Given the description of an element on the screen output the (x, y) to click on. 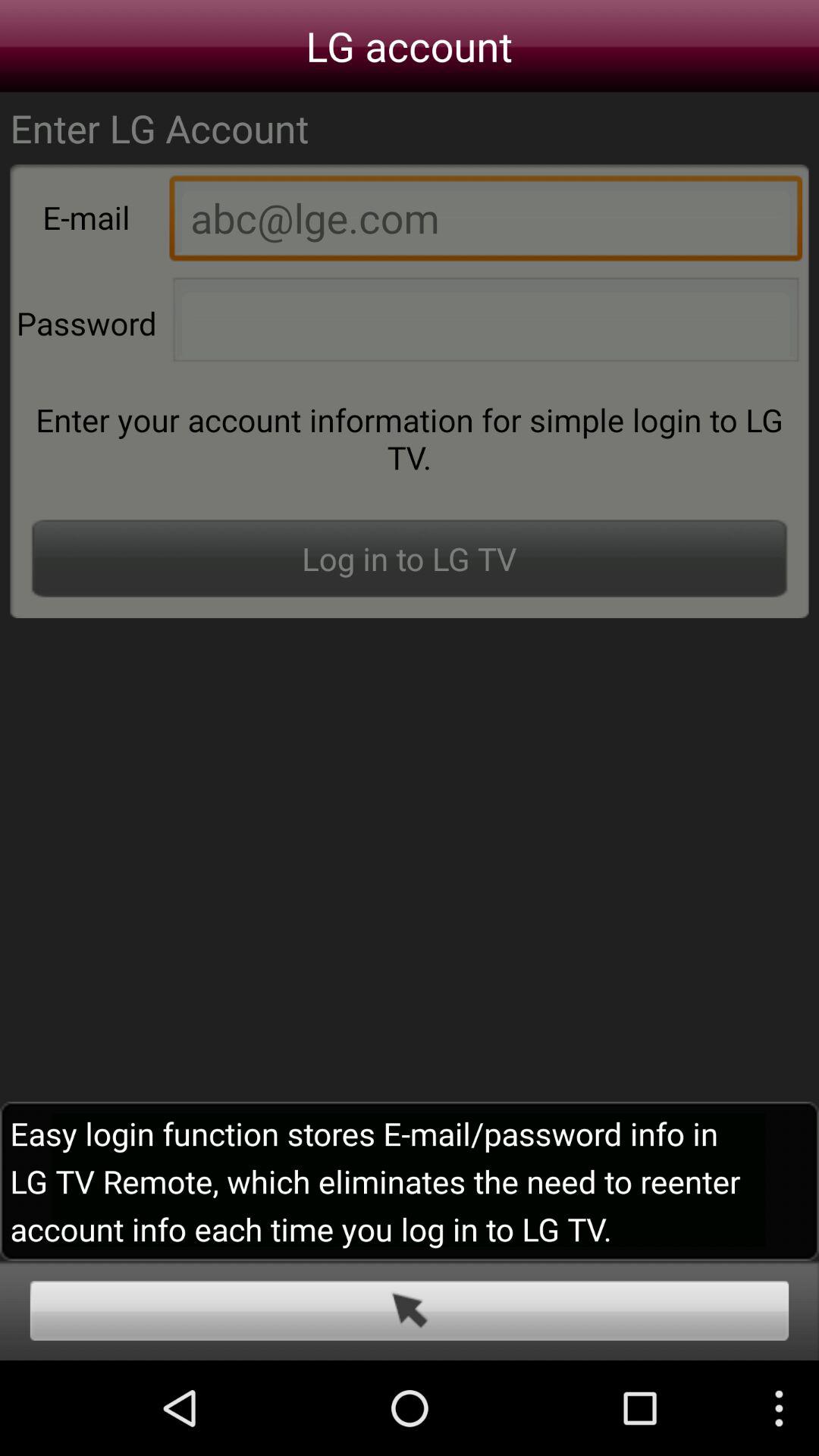
enter password (485, 323)
